Given the description of an element on the screen output the (x, y) to click on. 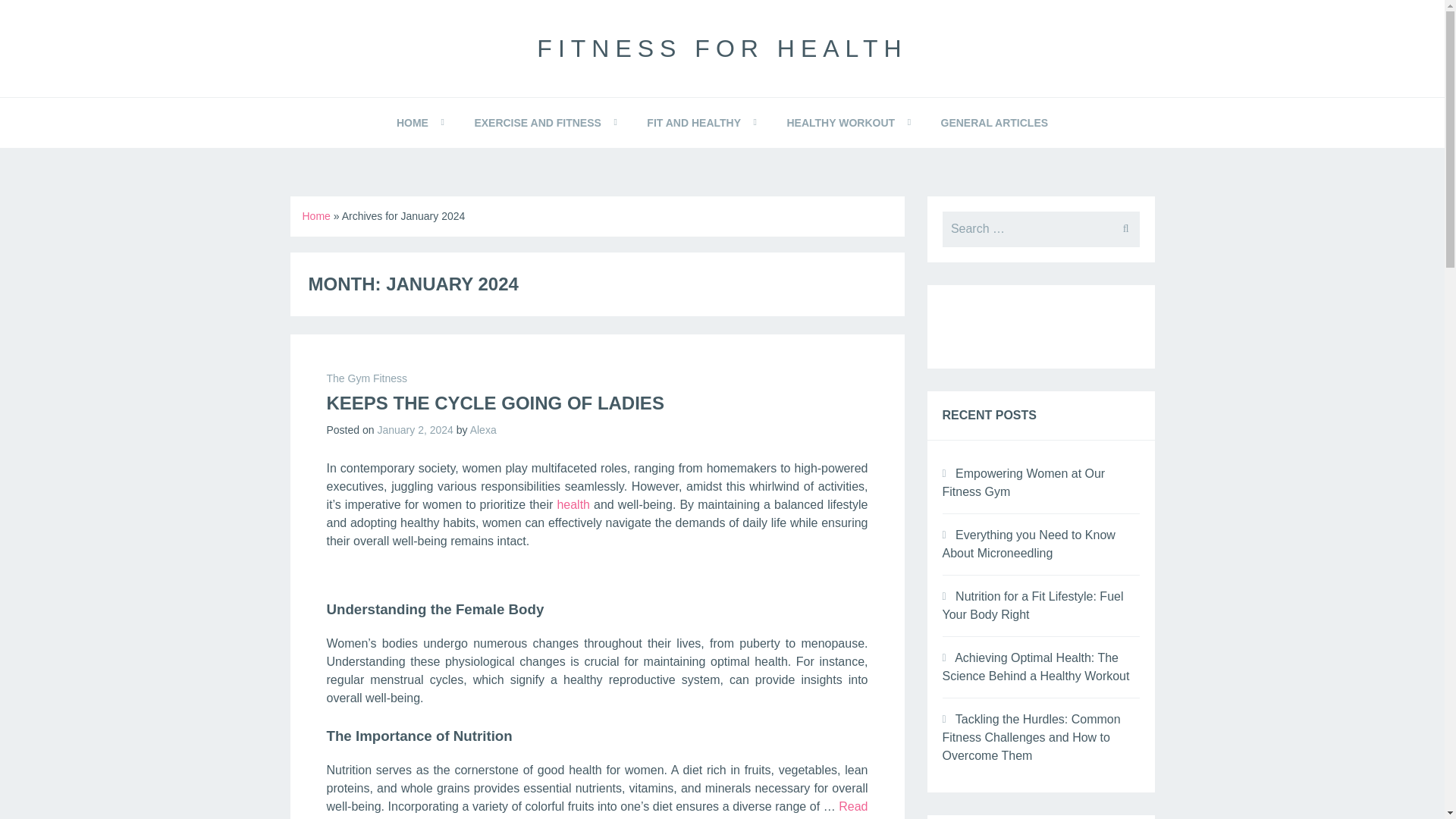
The Gym Fitness (366, 378)
Home (315, 215)
Alexa (483, 429)
Read more (596, 809)
KEEPS THE CYCLE GOING OF LADIES (494, 403)
Empowering Women at Our Fitness Gym (1023, 481)
FITNESS FOR HEALTH (722, 48)
health (572, 504)
GENERAL ARTICLES (993, 122)
Nutrition for a Fit Lifestyle: Fuel Your Body Right (1032, 604)
Search (50, 18)
January 2, 2024 (414, 429)
HEALTHY WORKOUT (840, 122)
FIT AND HEALTHY (693, 122)
